Given the description of an element on the screen output the (x, y) to click on. 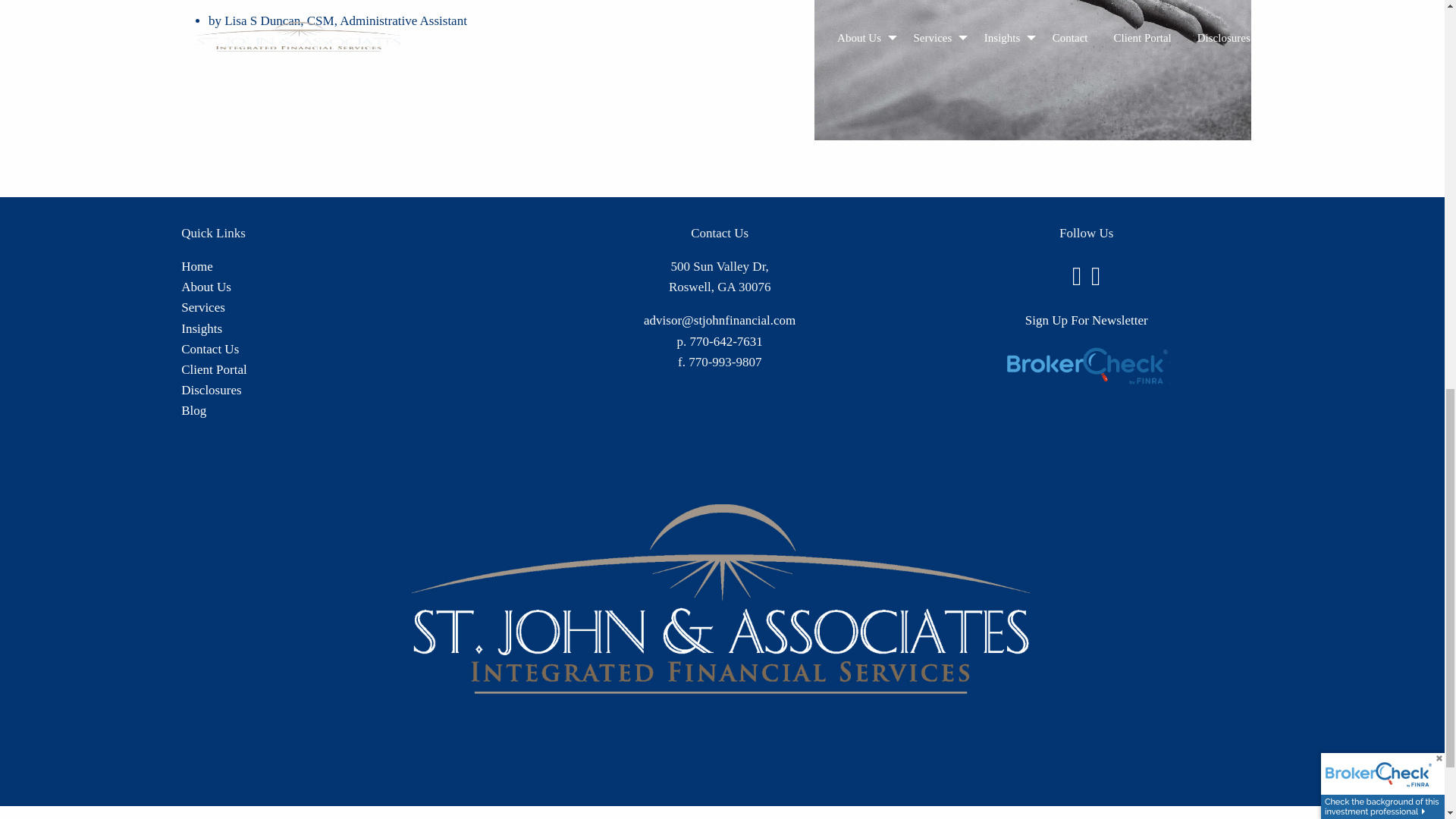
Disclosures (210, 390)
Overview (202, 307)
Contact (209, 349)
Newsletters (201, 328)
Client Portal (213, 369)
Who We Are (205, 287)
